Given the description of an element on the screen output the (x, y) to click on. 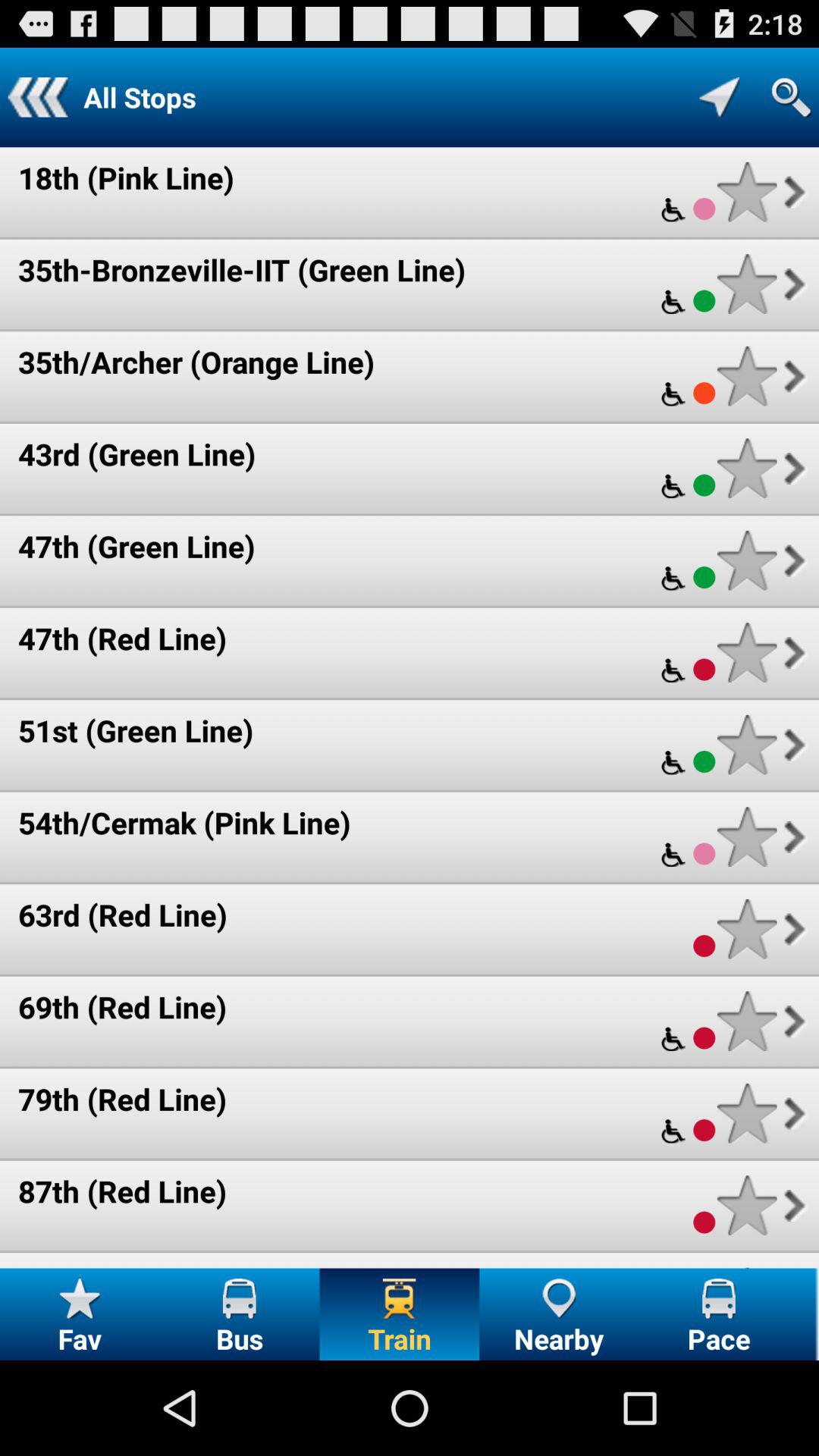
favorite icon (746, 1205)
